Given the description of an element on the screen output the (x, y) to click on. 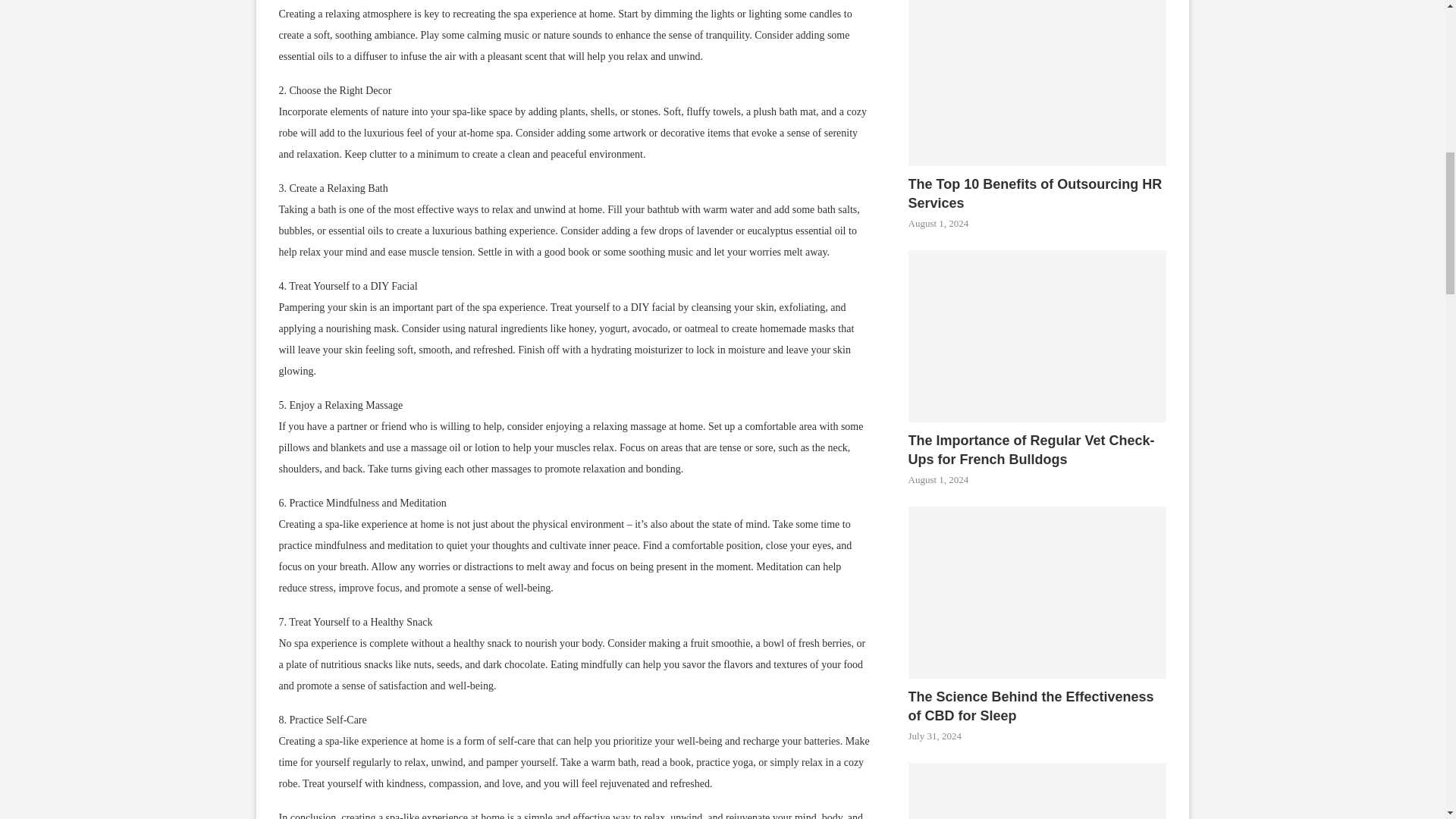
The Top 10 Benefits of Outsourcing HR Services (1037, 83)
